Given the description of an element on the screen output the (x, y) to click on. 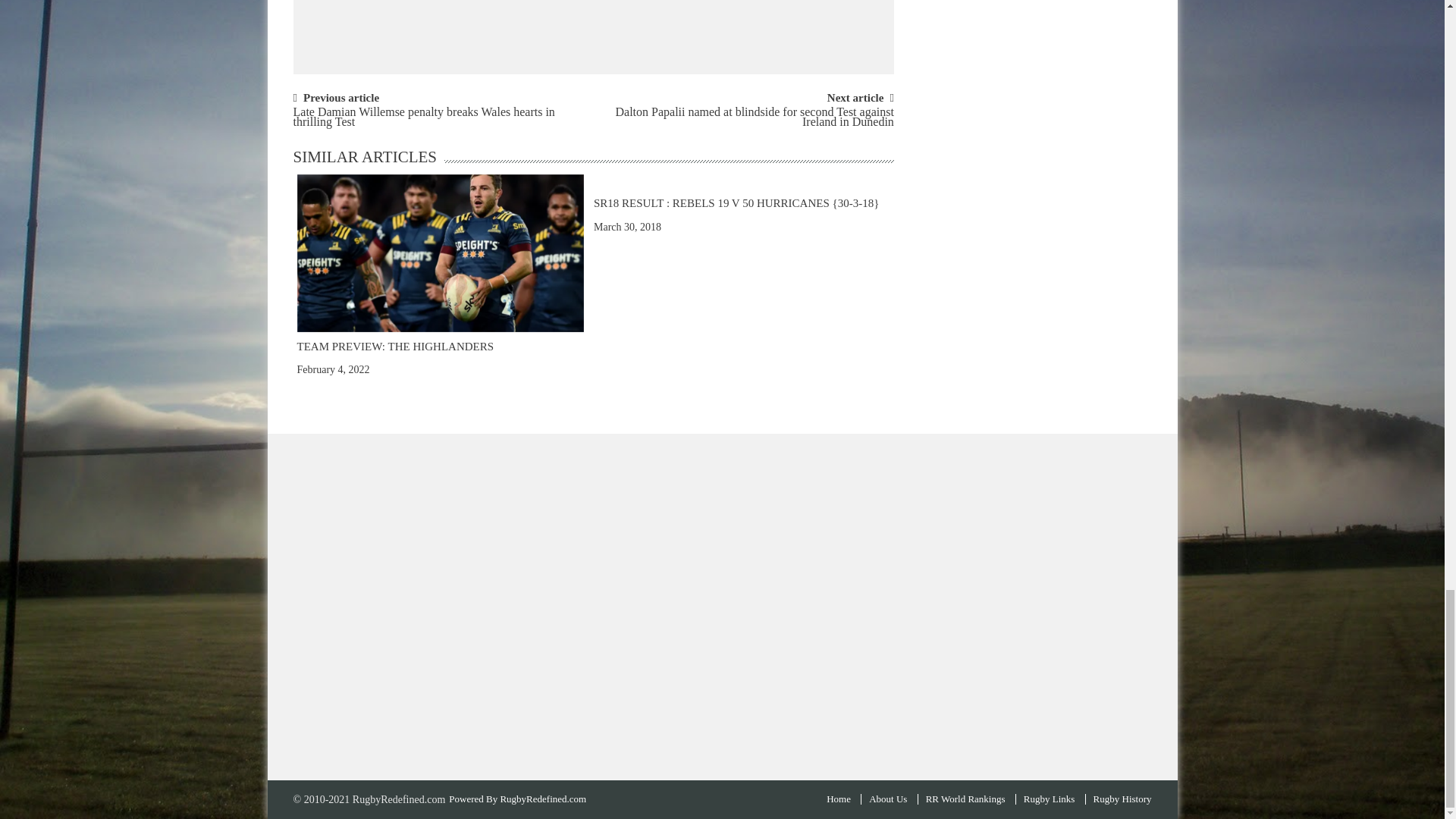
TEAM PREVIEW: THE HIGHLANDERS (396, 346)
February 4, 2022 (333, 369)
March 30, 2018 (627, 226)
TEAM PREVIEW: THE HIGHLANDERS (396, 346)
TEAM PREVIEW: THE HIGHLANDERS (440, 253)
TEAM PREVIEW: THE HIGHLANDERS (440, 251)
